Given the description of an element on the screen output the (x, y) to click on. 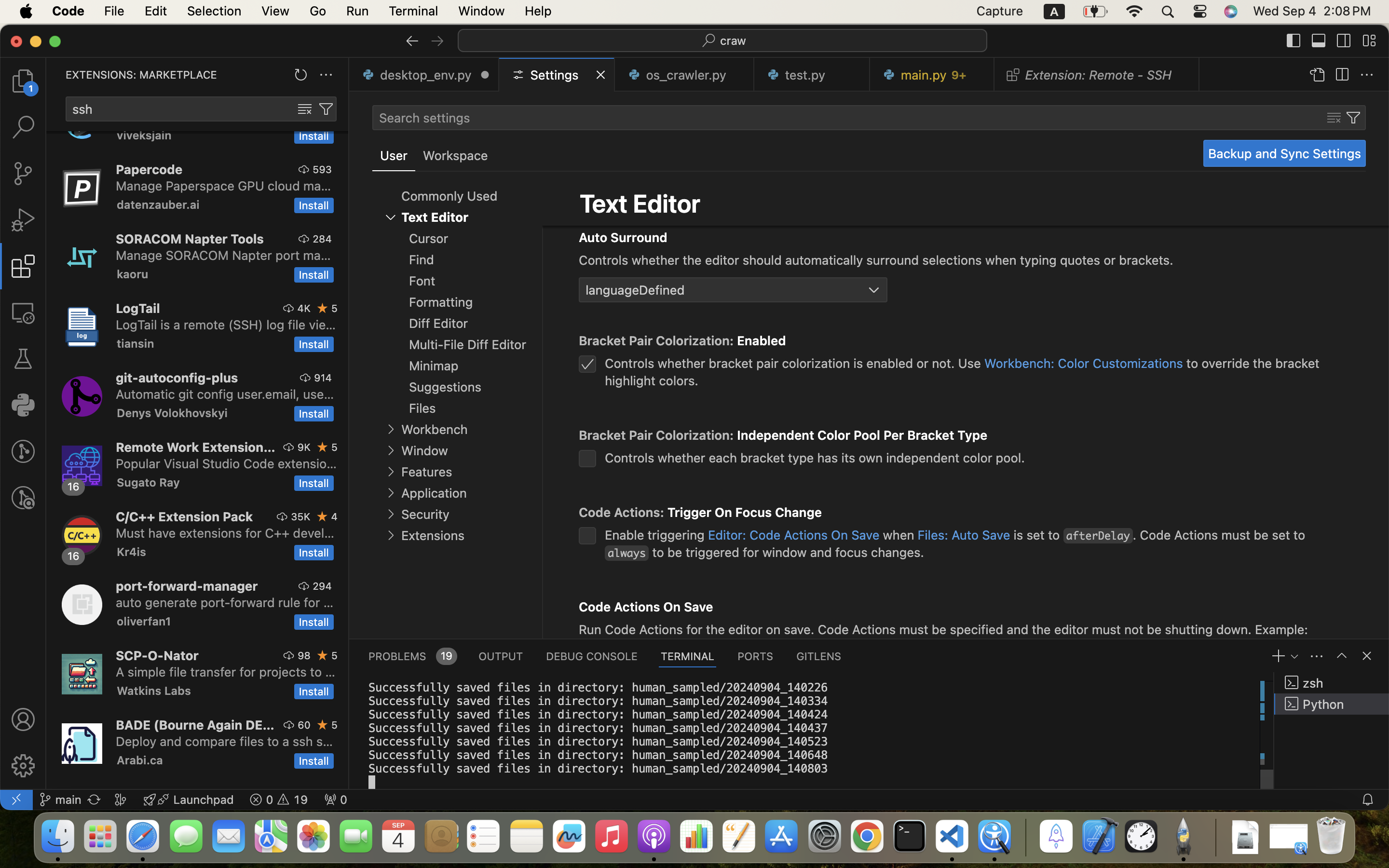
0  Element type: AXRadioButton (23, 497)
0 main.py   9+ Element type: AXRadioButton (932, 74)
 Element type: AXButton (304, 108)
16 Element type: AXStaticText (73, 486)
Kr4is Element type: AXStaticText (131, 551)
